Given the description of an element on the screen output the (x, y) to click on. 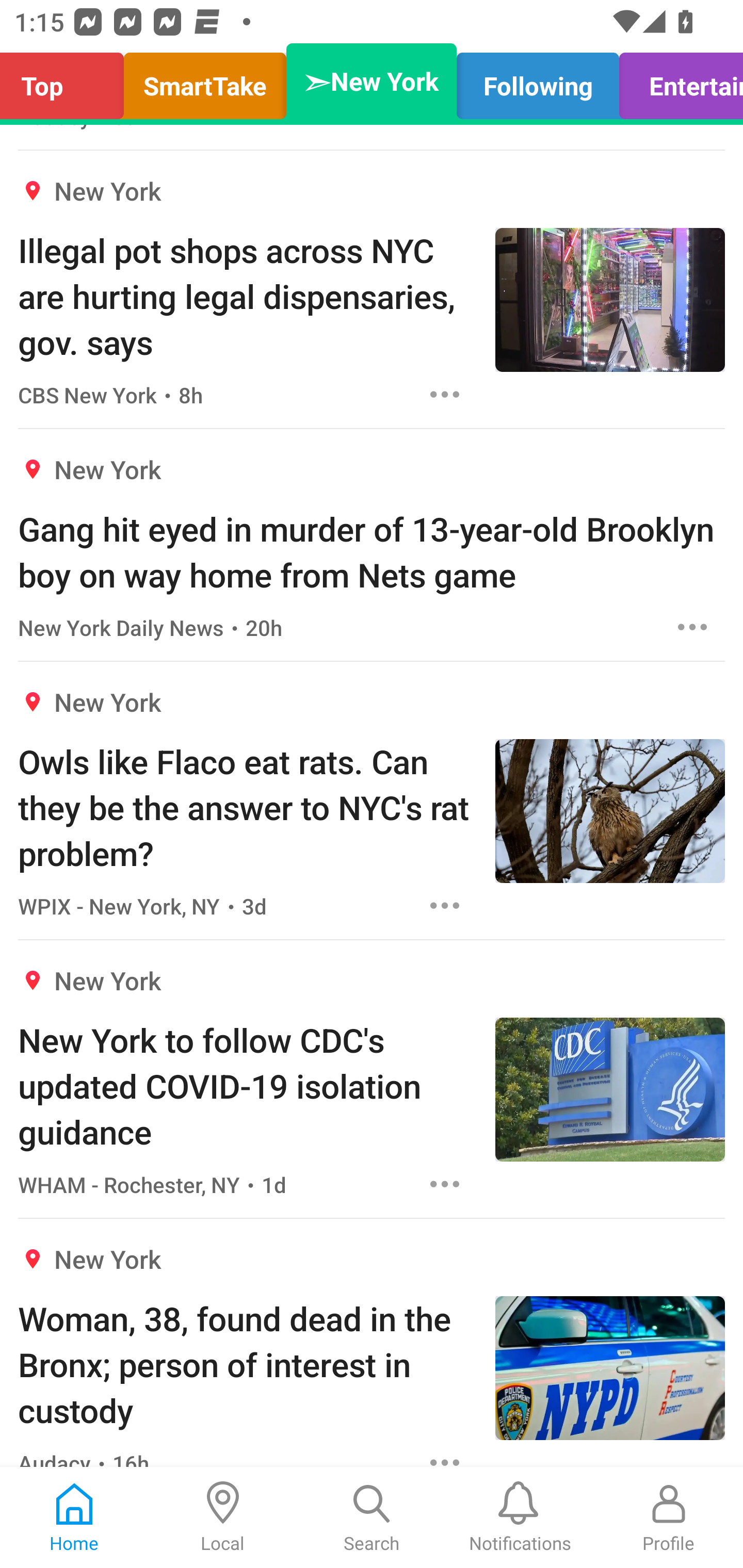
Top (67, 81)
SmartTake (204, 81)
➣New York (371, 81)
Following (537, 81)
Options (444, 394)
Options (692, 627)
Options (444, 905)
Options (444, 1183)
Options (444, 1453)
Local (222, 1517)
Search (371, 1517)
Notifications (519, 1517)
Profile (668, 1517)
